Given the description of an element on the screen output the (x, y) to click on. 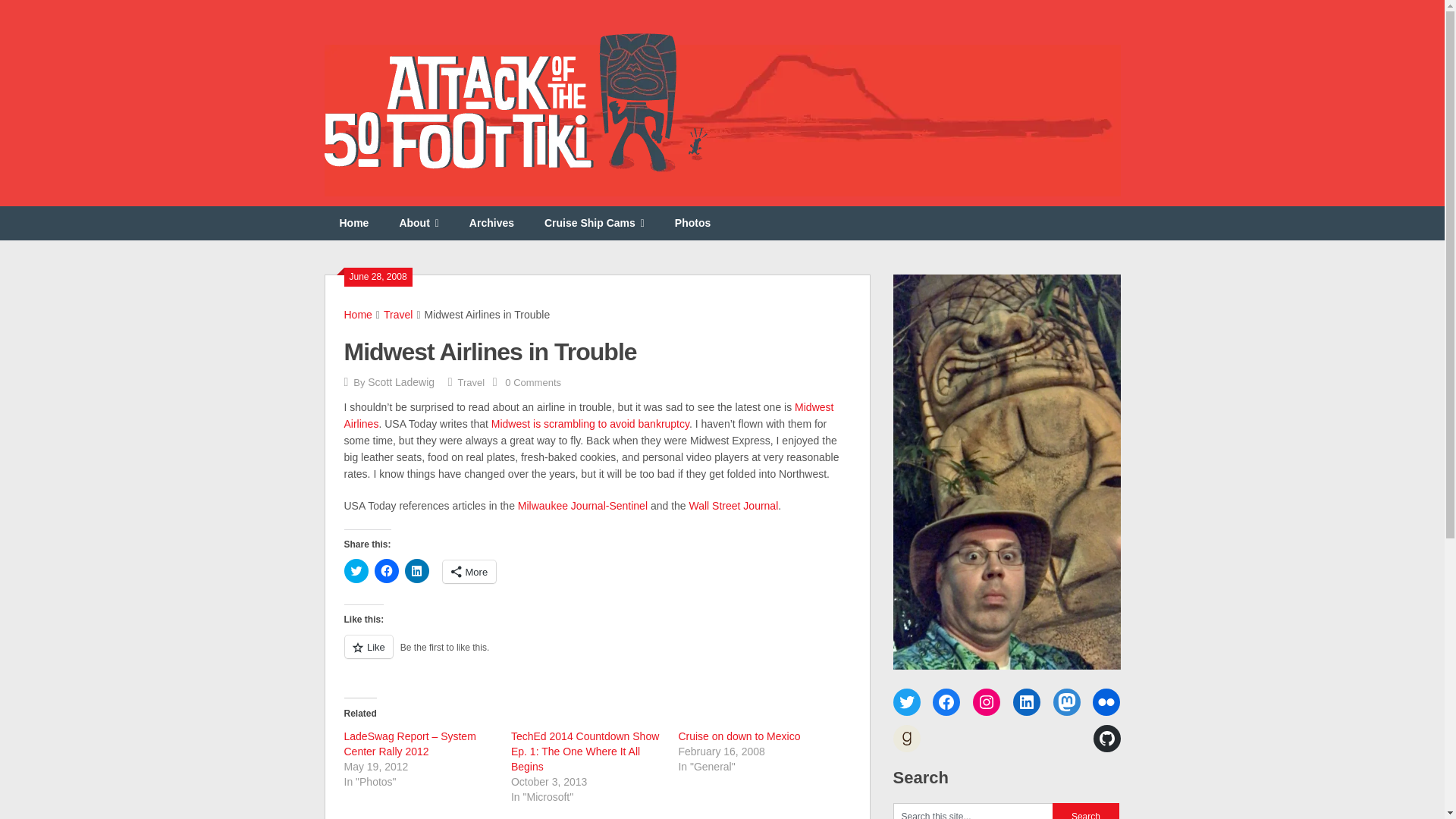
Scott Ladewig (400, 381)
Cruise on down to Mexico (738, 736)
Home (354, 223)
Midwest is scrambling to avoid bankruptcy (590, 423)
Click to share on Twitter (355, 570)
Milwaukee Journal-Sentinel (582, 505)
Click to share on LinkedIn (416, 570)
Midwest Airlines (588, 415)
Travel (398, 314)
Search (1085, 811)
Like or Reblog (596, 655)
0 Comments (532, 382)
Travel (471, 382)
Archives (491, 223)
